Given the description of an element on the screen output the (x, y) to click on. 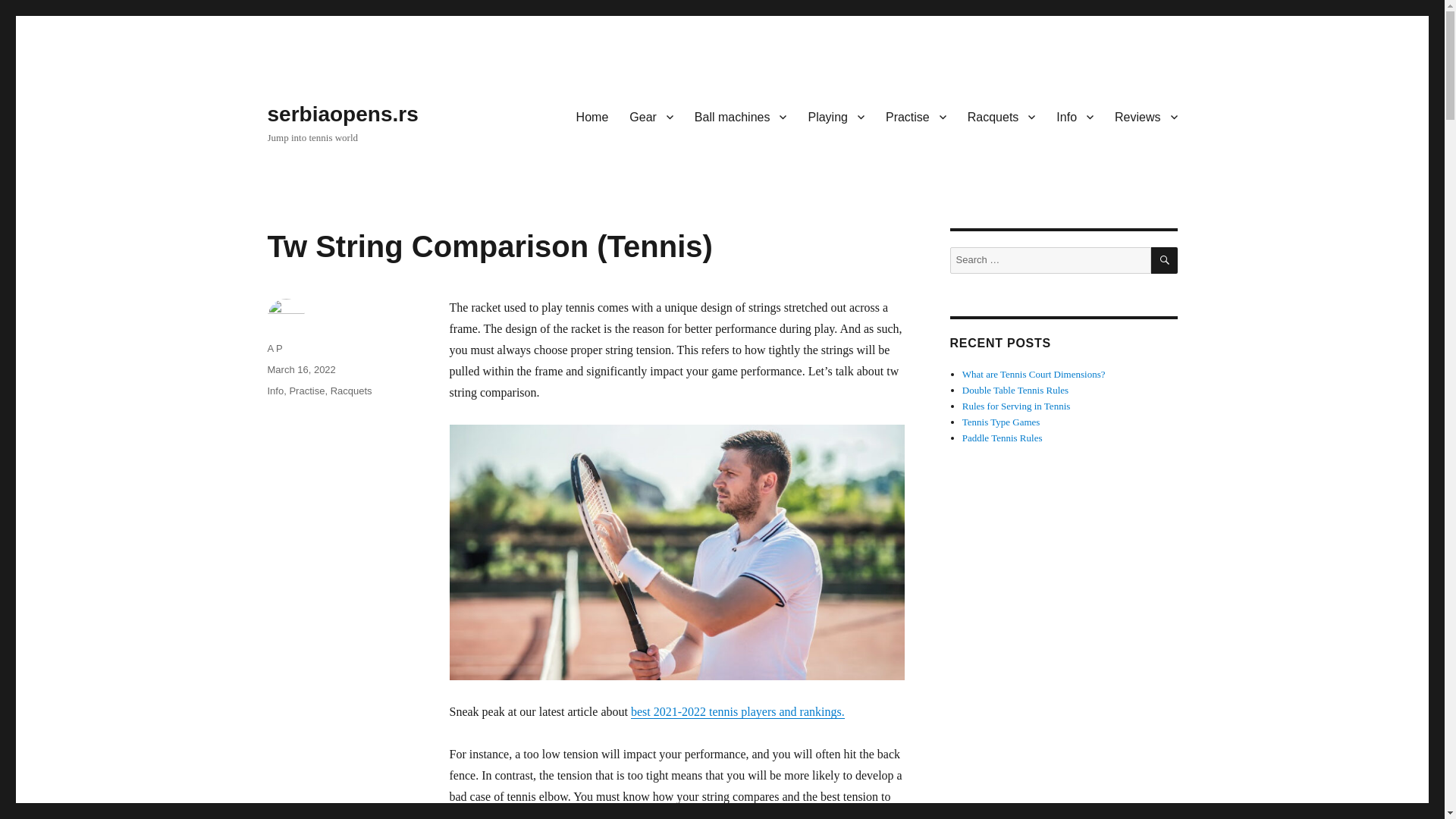
Home (593, 116)
Playing (835, 116)
serbiaopens.rs (341, 114)
Gear (651, 116)
Ball machines (740, 116)
